Given the description of an element on the screen output the (x, y) to click on. 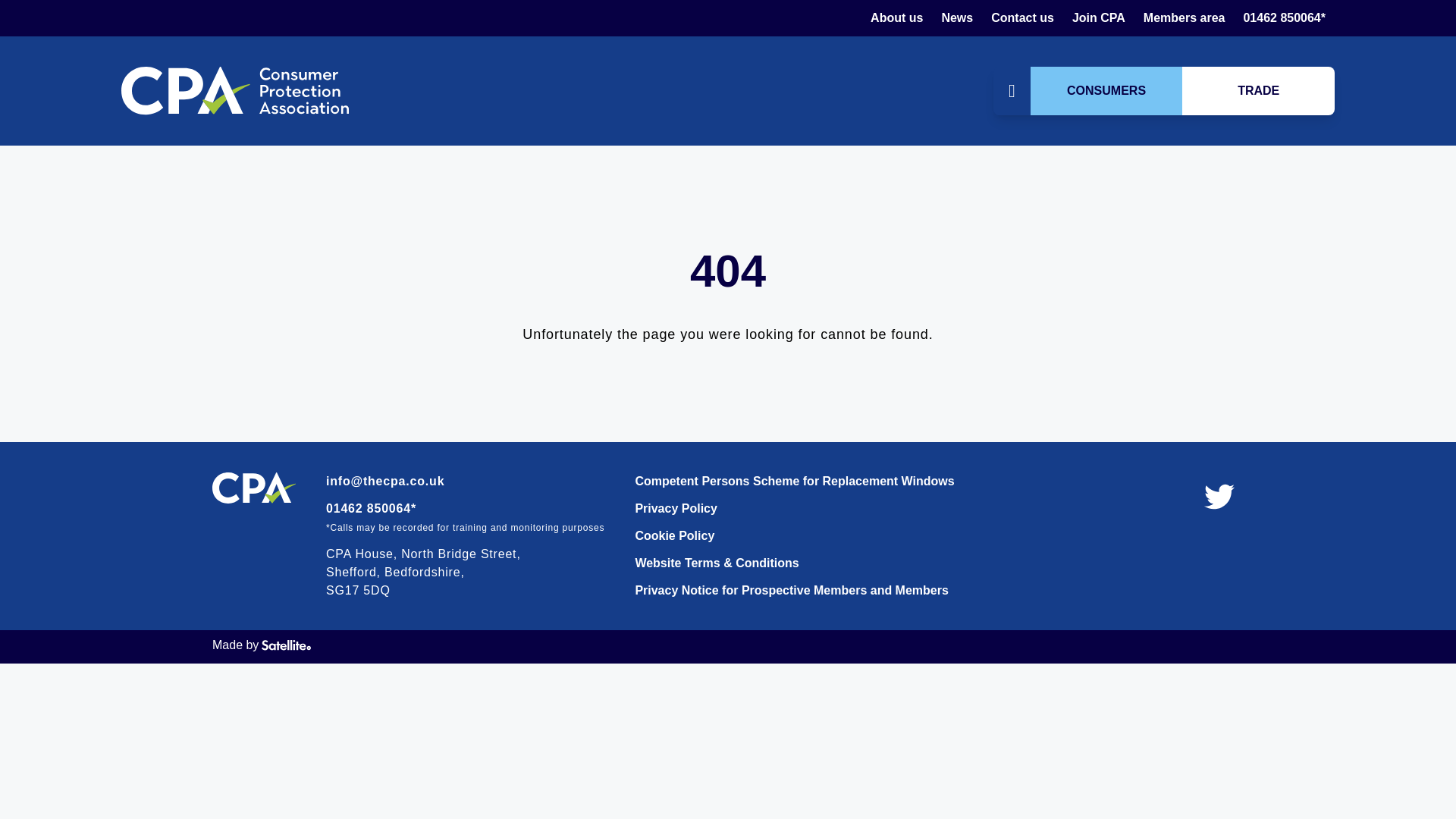
Members area (1183, 18)
Cookie Policy (793, 536)
Visit our twitter page (1219, 496)
About us (896, 18)
Contact us (1022, 18)
Privacy Notice for Prospective Members and Members (793, 590)
Join CPA (1098, 18)
Competent Persons Scheme for Replacement Windows (793, 481)
News (956, 18)
Privacy Policy (793, 508)
